Given the description of an element on the screen output the (x, y) to click on. 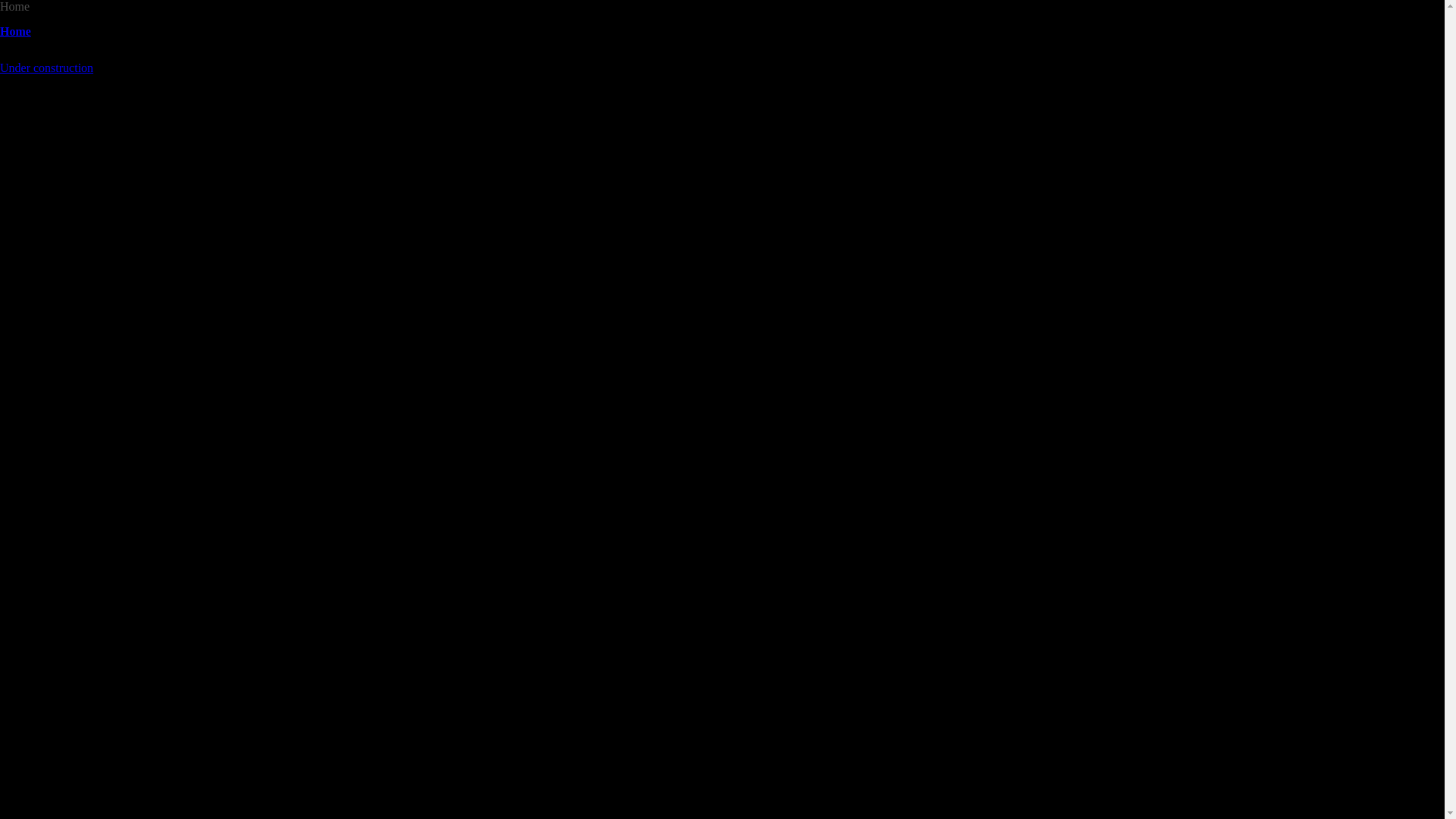
Home Element type: text (15, 31)
Under construction Element type: text (46, 67)
